Given the description of an element on the screen output the (x, y) to click on. 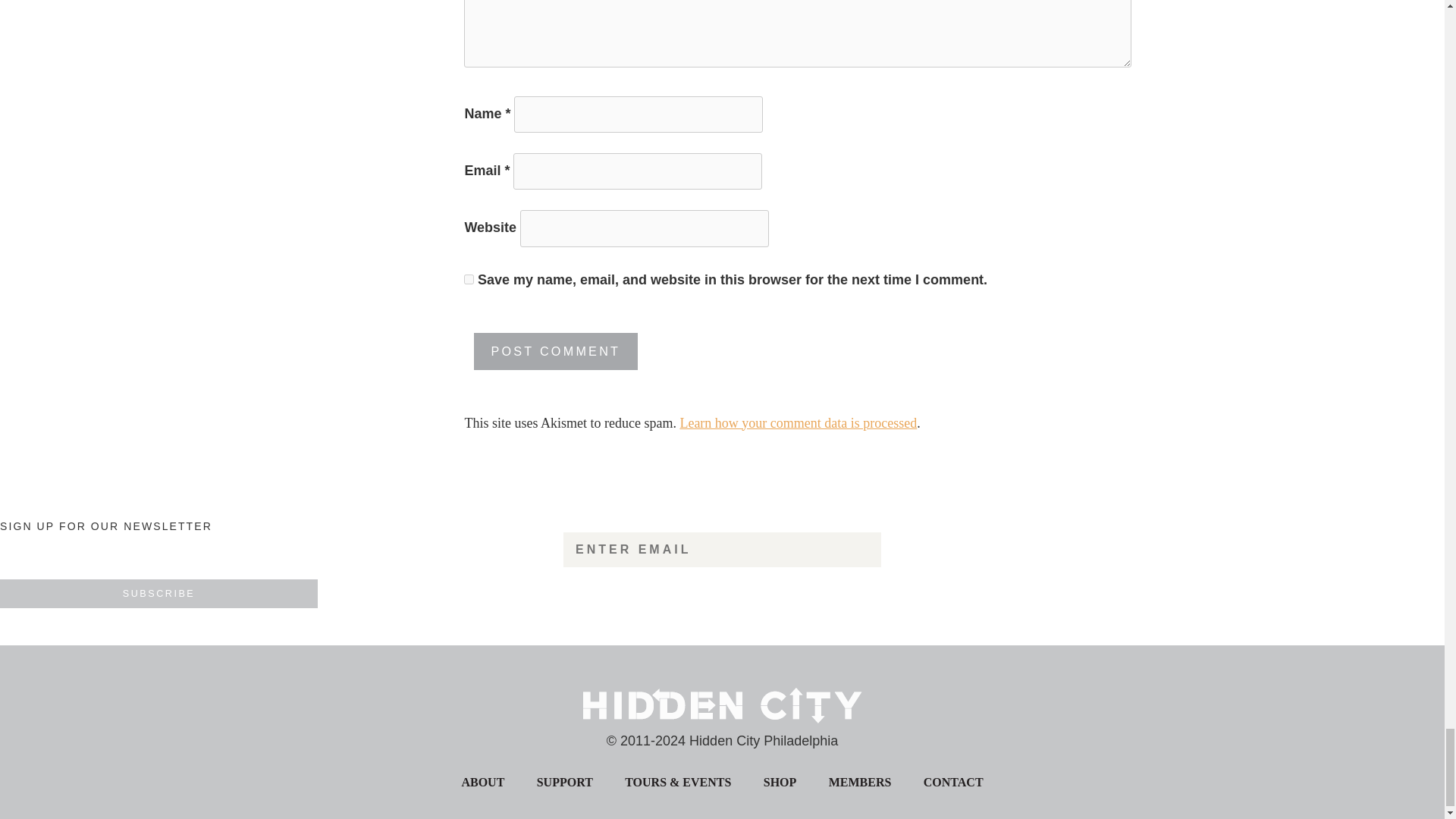
Post Comment (556, 351)
Subscribe (158, 593)
yes (469, 279)
